Given the description of an element on the screen output the (x, y) to click on. 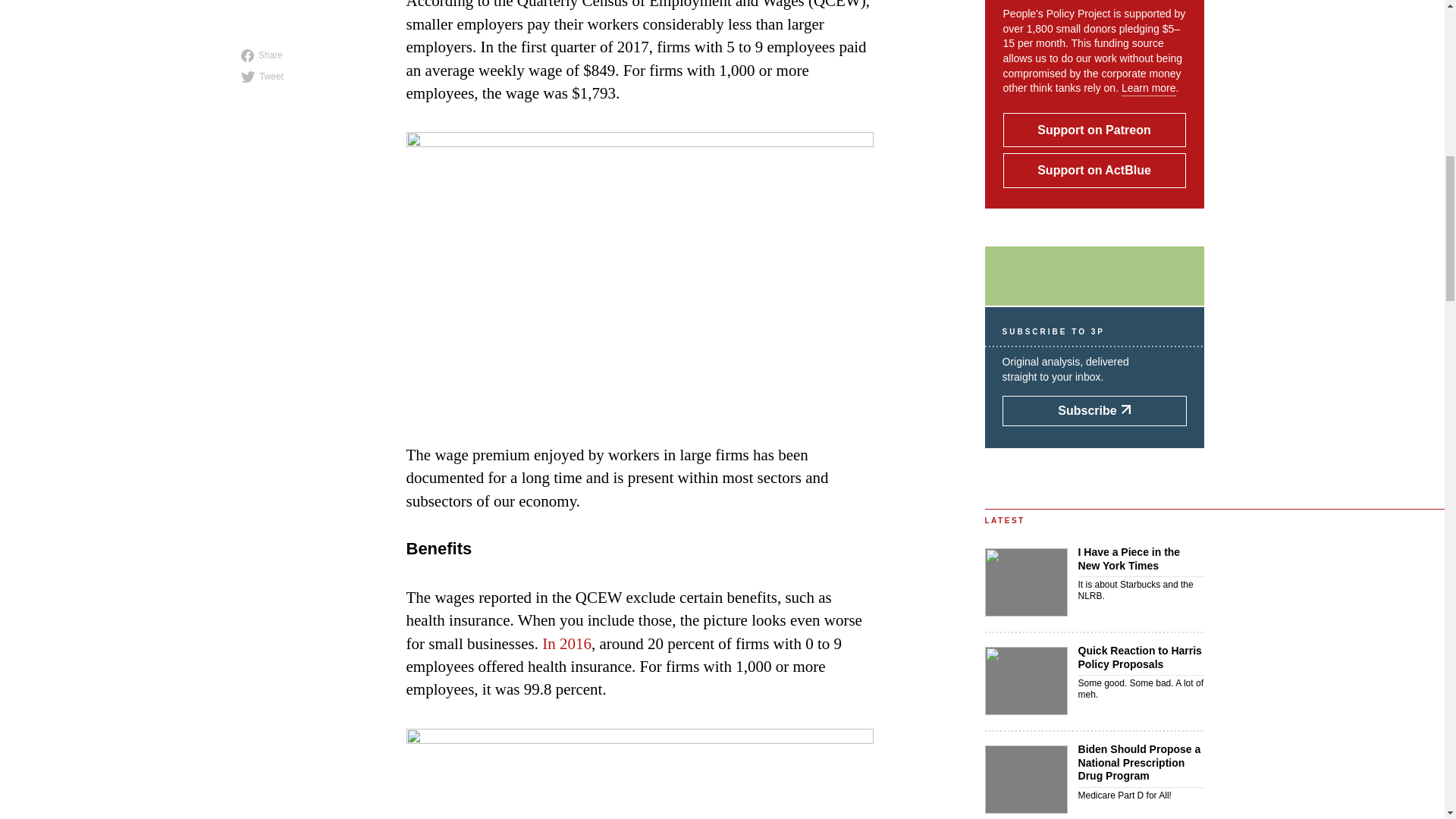
Learn more (1148, 88)
Subscribe (1094, 410)
Support on ActBlue (1094, 170)
In 2016 (566, 643)
Support on Patreon (1094, 130)
